Given the description of an element on the screen output the (x, y) to click on. 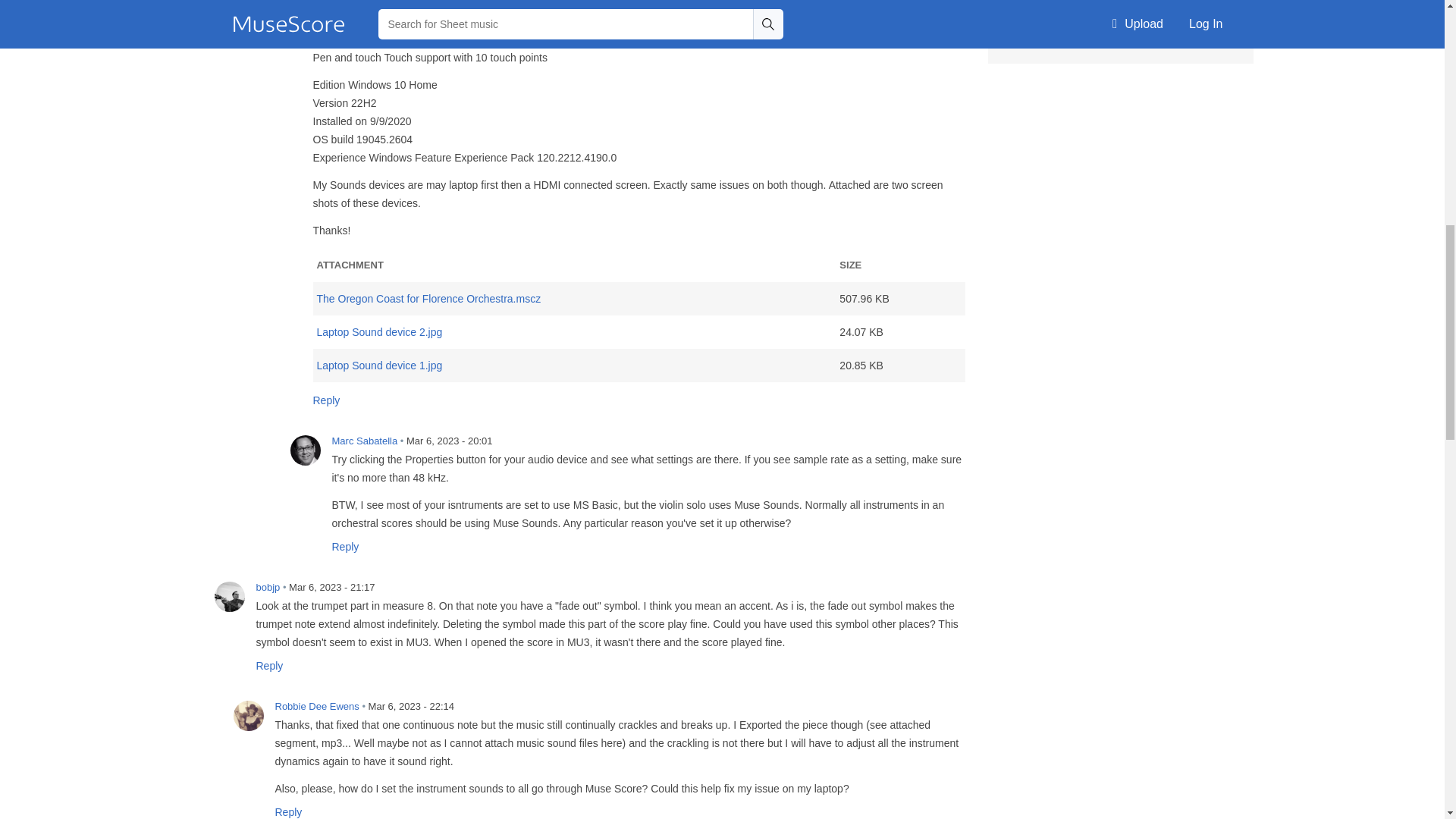
Robbie Dee Ewens (247, 716)
Marc Sabatella (304, 450)
bobjp (229, 596)
